Given the description of an element on the screen output the (x, y) to click on. 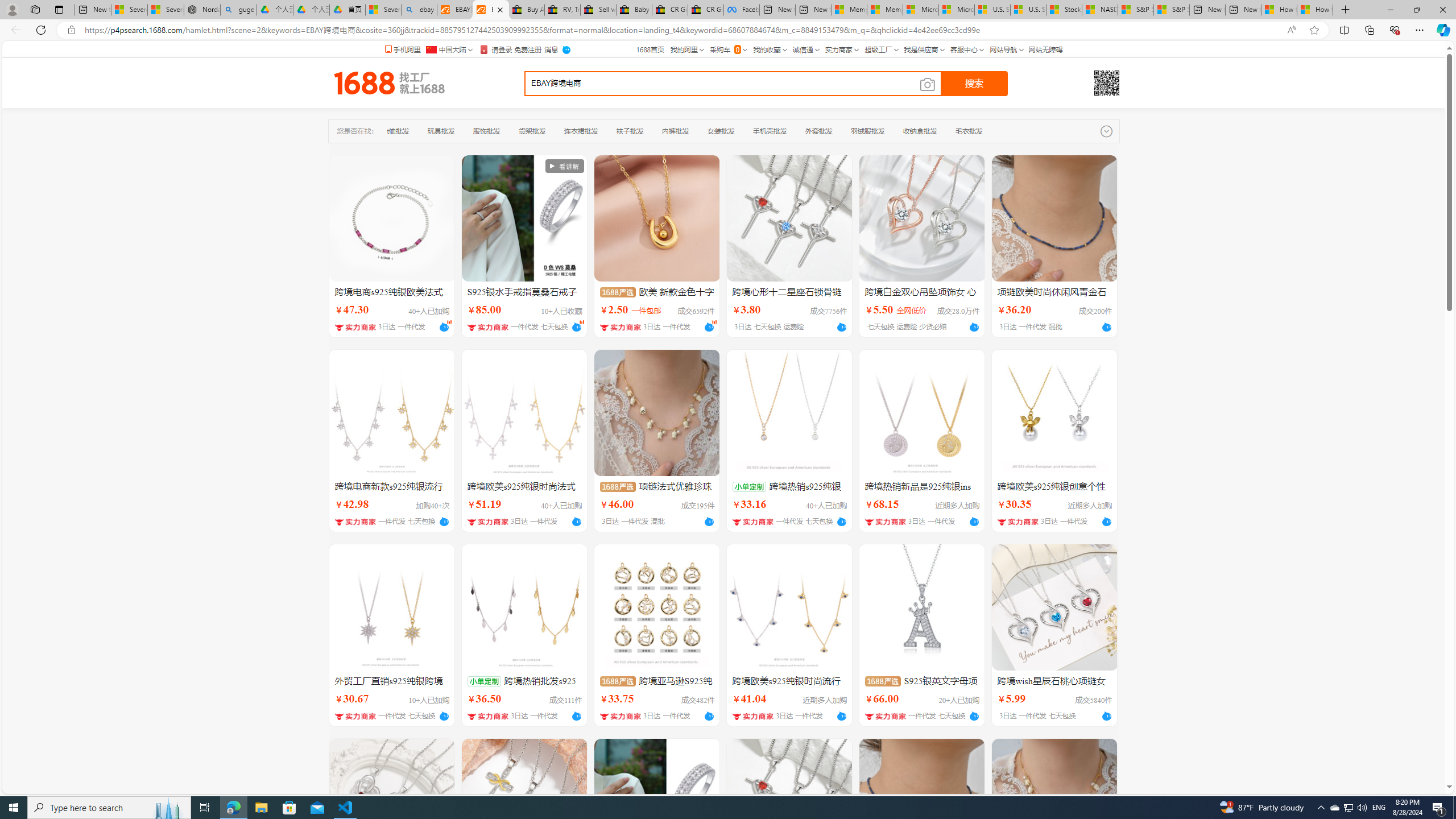
How to Use a Monitor With Your Closed Laptop (1315, 9)
